Given the description of an element on the screen output the (x, y) to click on. 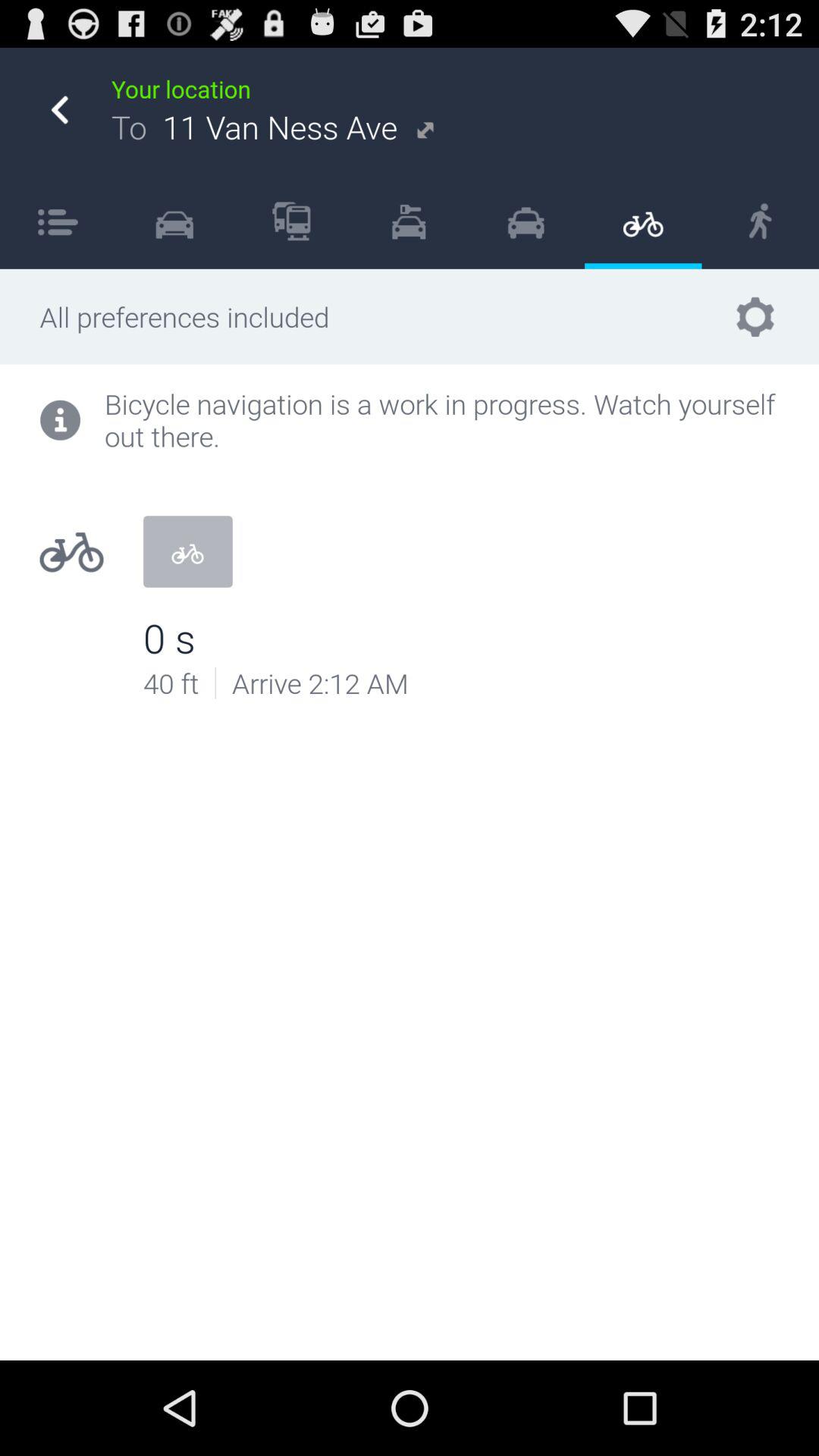
jump to icon (291, 221)
